Given the description of an element on the screen output the (x, y) to click on. 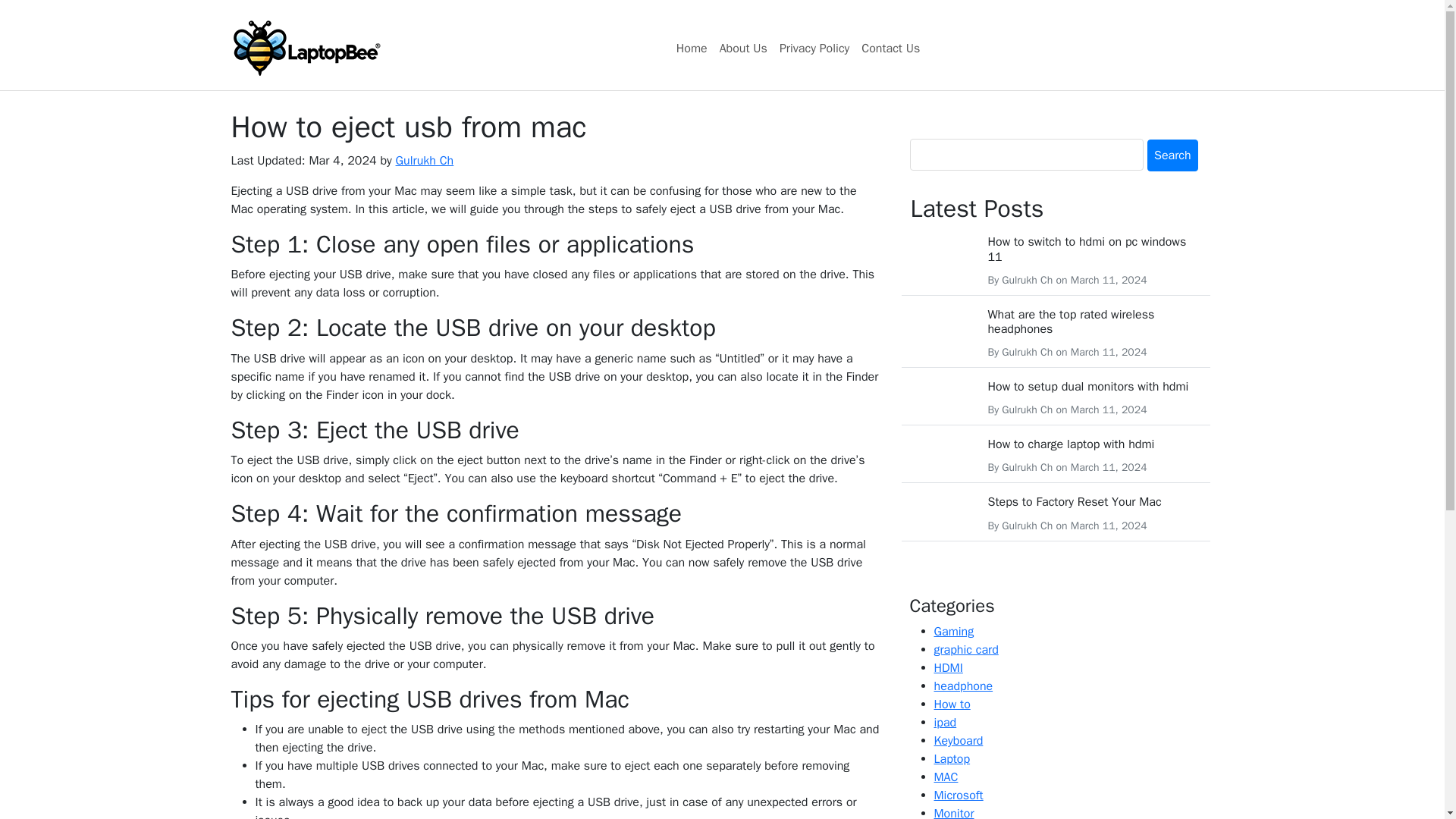
Search (1172, 155)
Gaming (954, 631)
Contact Us (891, 48)
How to setup dual monitors with hdmi (1087, 386)
Privacy Policy (814, 48)
How to switch to hdmi on pc windows 11 (1086, 248)
HDMI (948, 667)
What are the top rated wireless headphones (1070, 321)
Keyboard (959, 740)
MAC (946, 776)
Monitor (954, 812)
Home (691, 48)
Laptop (952, 758)
How to charge laptop with hdmi (1070, 444)
graphic card (966, 649)
